Given the description of an element on the screen output the (x, y) to click on. 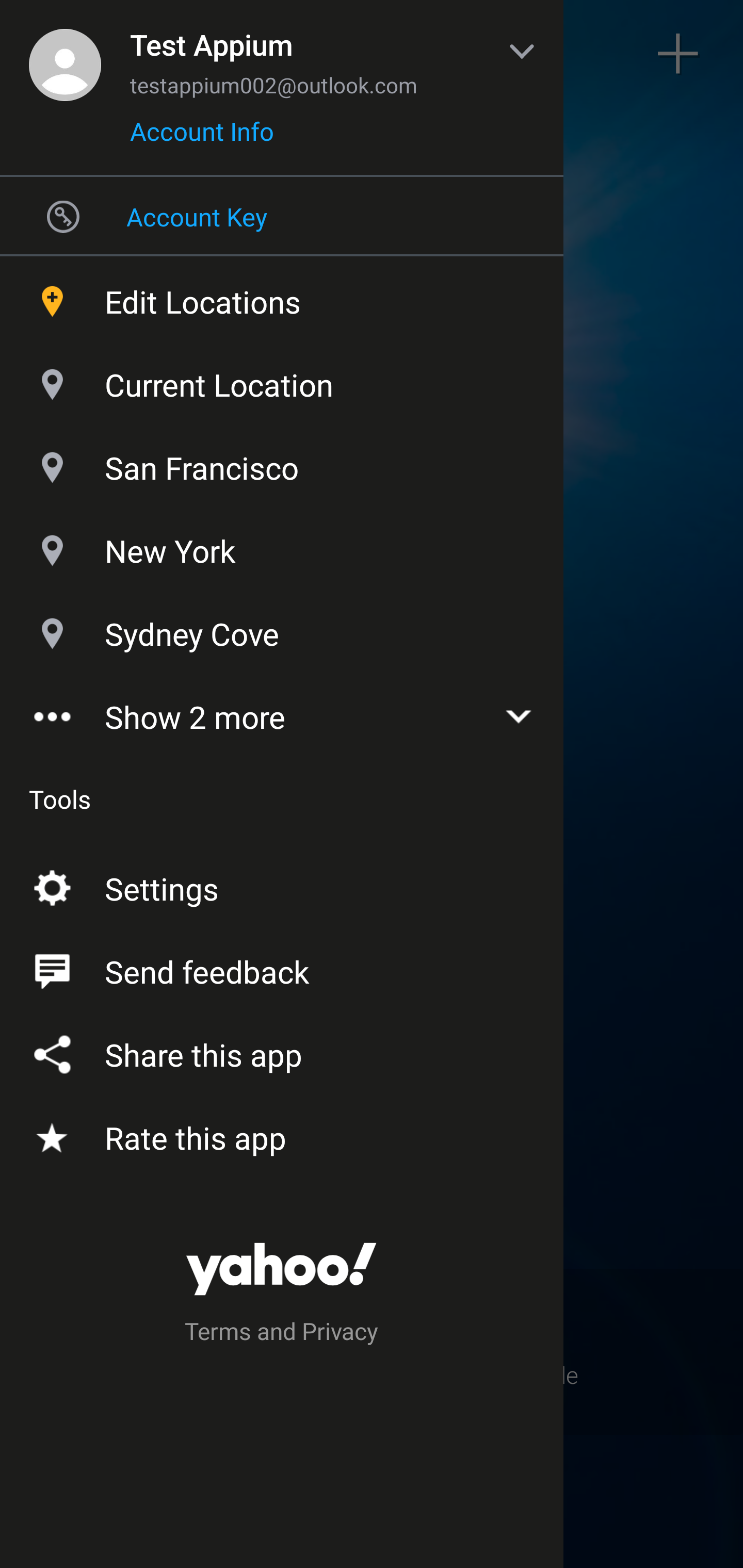
Sidebar (64, 54)
Account Info (202, 137)
Account Key (281, 216)
Edit Locations (281, 296)
Current Location (281, 379)
San Francisco (281, 462)
New York (281, 546)
Sydney Cove (281, 629)
Settings (281, 884)
Send feedback (281, 967)
Share this app (281, 1050)
Terms and Privacy Terms and privacy button (281, 1334)
